Given the description of an element on the screen output the (x, y) to click on. 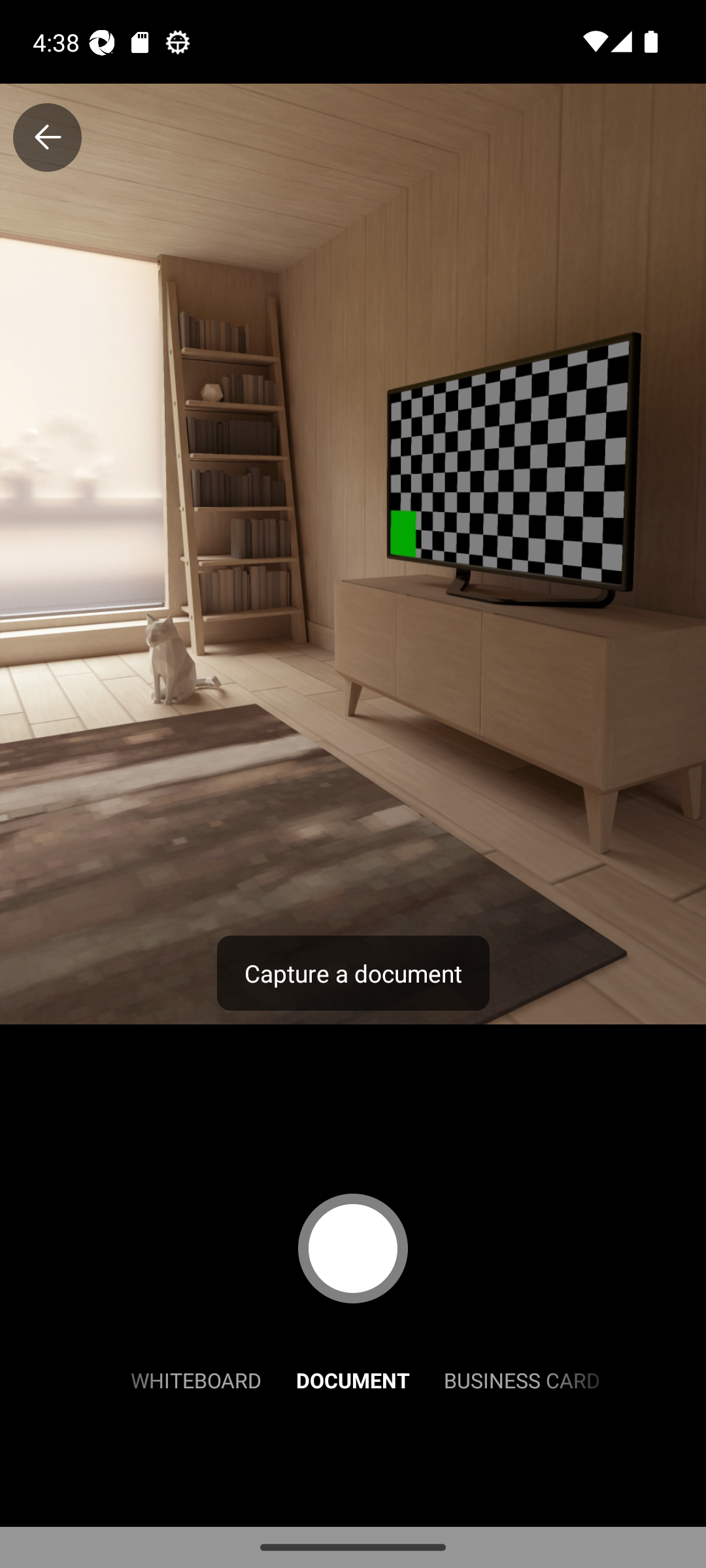
Close (47, 137)
Capture (352, 1248)
WHITEBOARD (196, 1379)
DOCUMENT (352, 1379)
BUSINESS CARD (521, 1379)
